Given the description of an element on the screen output the (x, y) to click on. 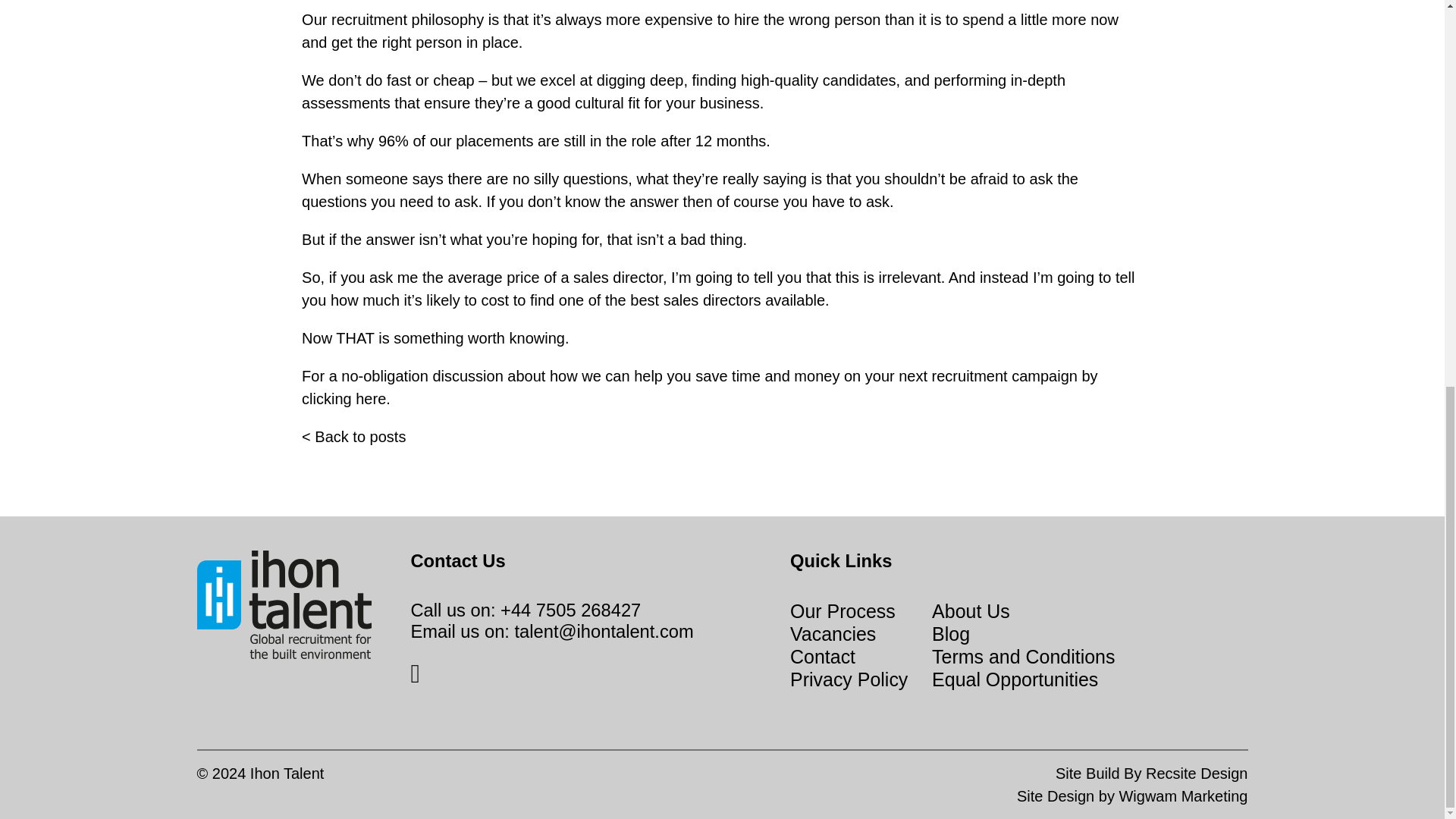
Contact (823, 656)
Recsite Design (1196, 773)
About Us (970, 610)
Contact (370, 398)
Our Process (842, 610)
Vacancies (833, 633)
Ihon Talent (287, 773)
Terms and Conditions (1023, 656)
Privacy Policy (848, 679)
Equal Opportunities (1014, 679)
here (370, 398)
Blog (950, 633)
Recruitment Website Design (1196, 773)
Site Design by Wigwam Marketing (1182, 795)
Wigwam Marketing (1182, 795)
